Given the description of an element on the screen output the (x, y) to click on. 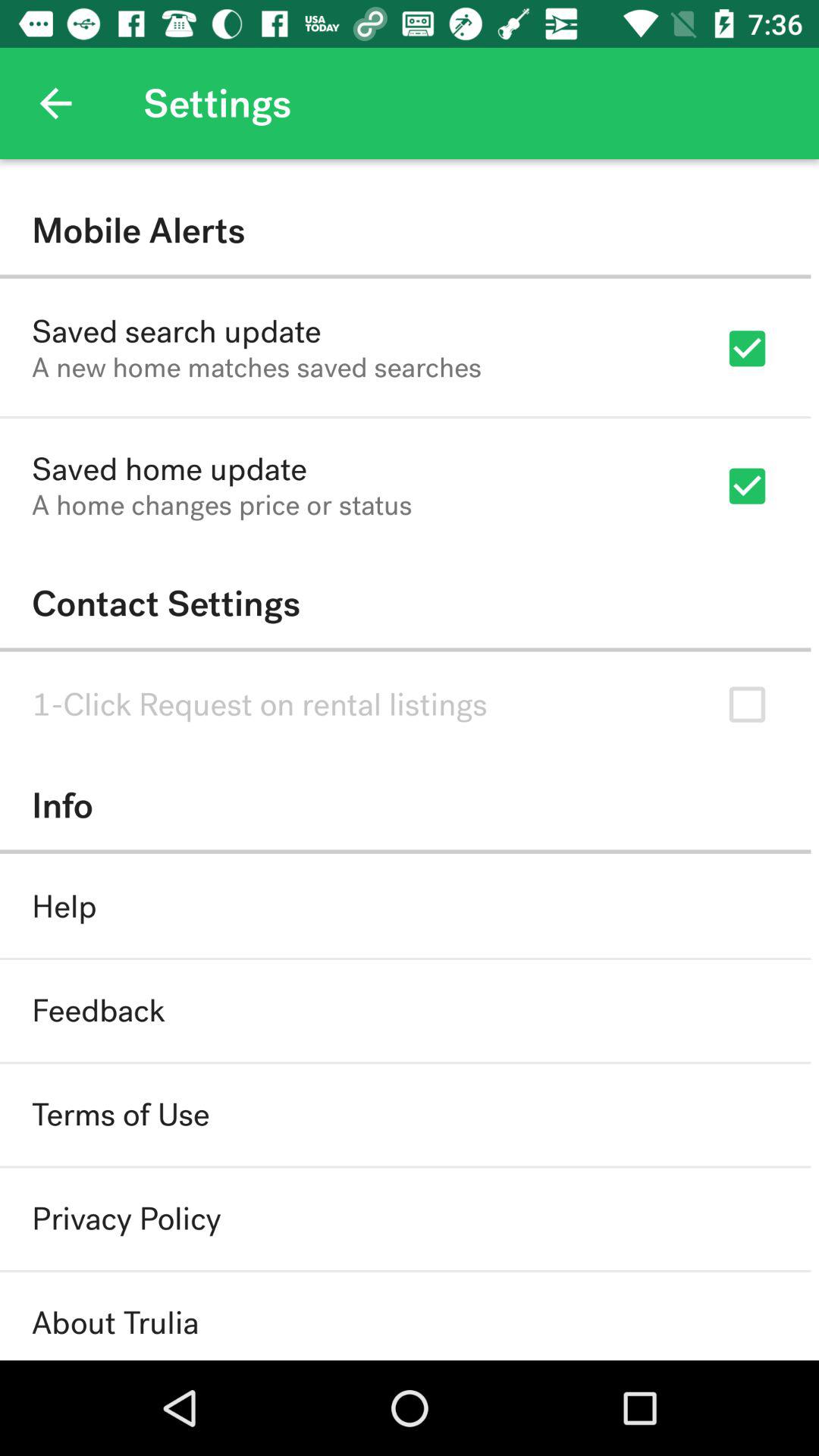
flip to the mobile alerts item (405, 230)
